Given the description of an element on the screen output the (x, y) to click on. 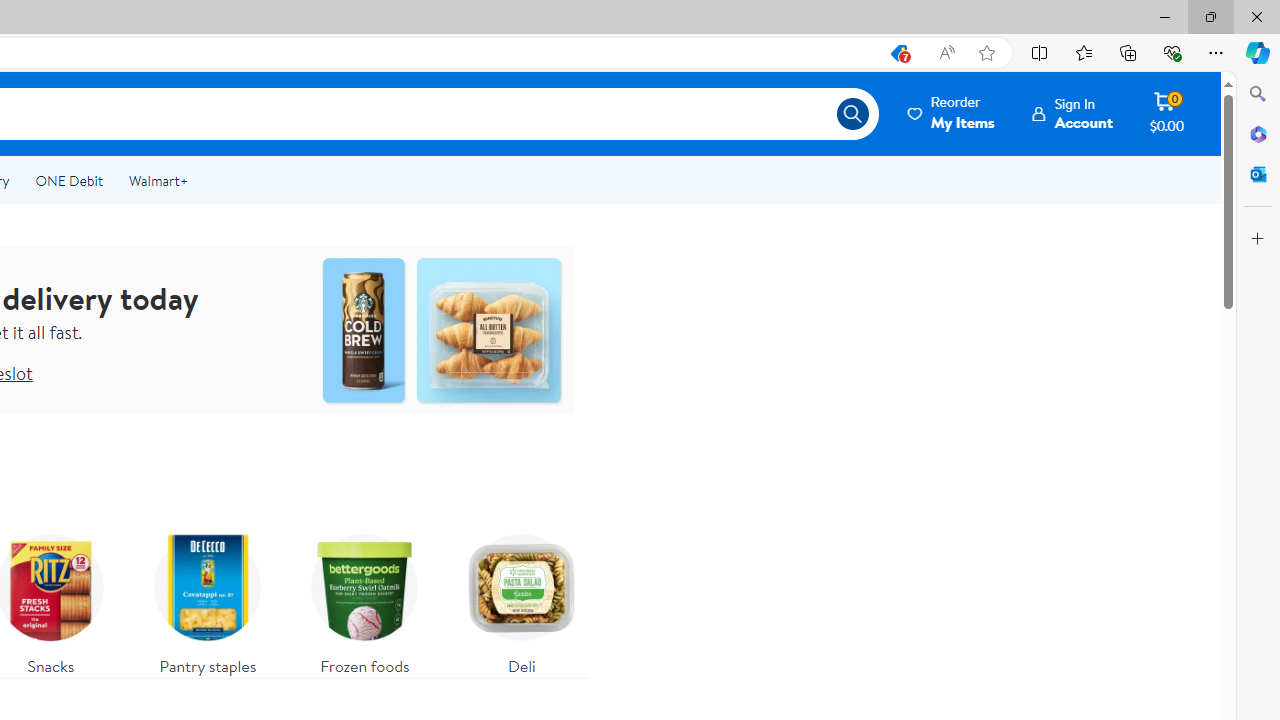
Search icon (852, 113)
ONE Debit (68, 180)
Reorder My Items (952, 113)
Walmart+ (158, 180)
Pantry staples (207, 599)
ONE Debit (68, 180)
